Given the description of an element on the screen output the (x, y) to click on. 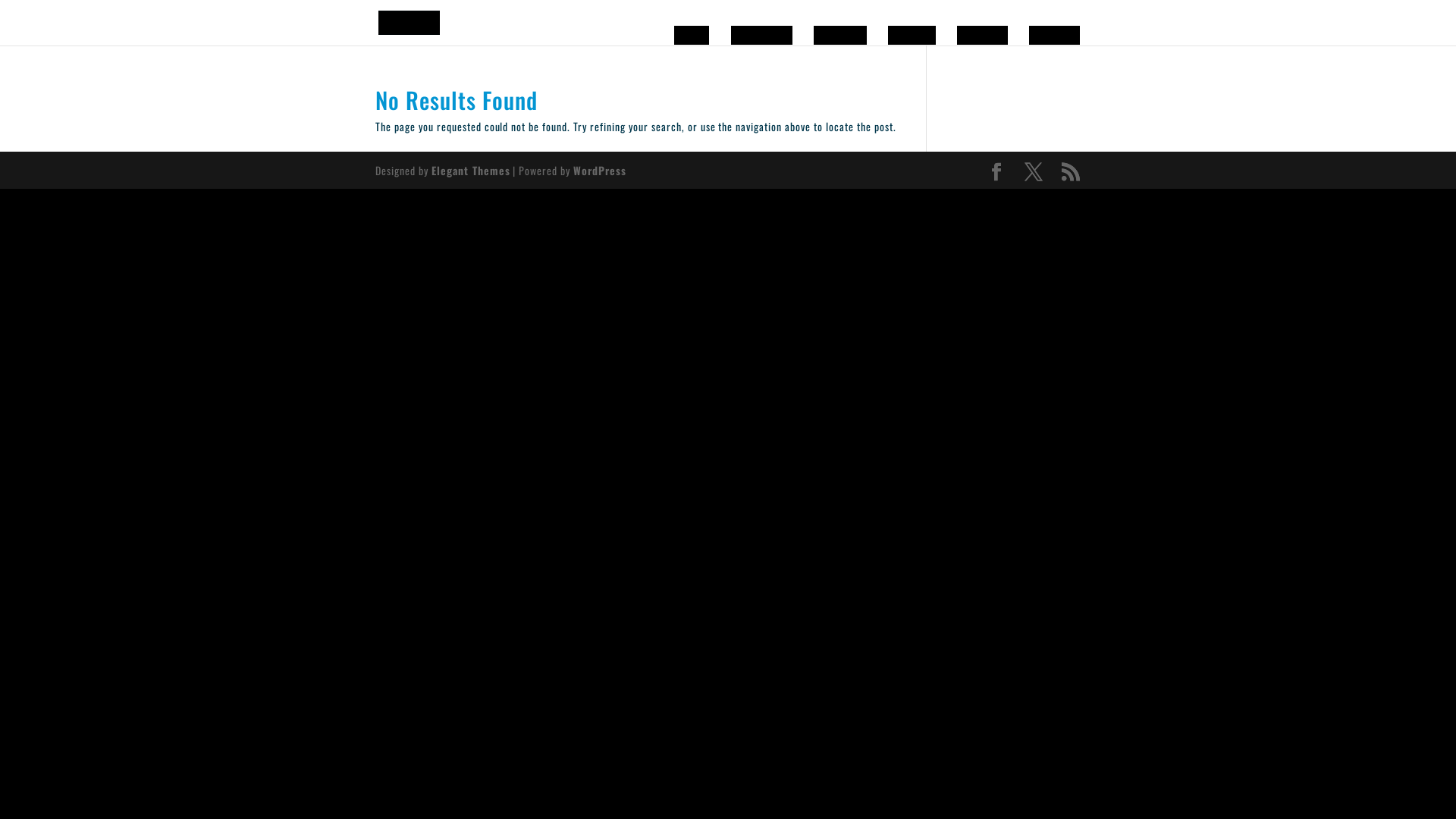
Elegant Themes Element type: text (470, 170)
WordPress Element type: text (599, 170)
Practical Element type: text (839, 34)
Contact Element type: text (911, 34)
Home Element type: text (691, 34)
Partners Element type: text (1054, 34)
Archives Element type: text (982, 34)
Categories Element type: text (761, 34)
